Given the description of an element on the screen output the (x, y) to click on. 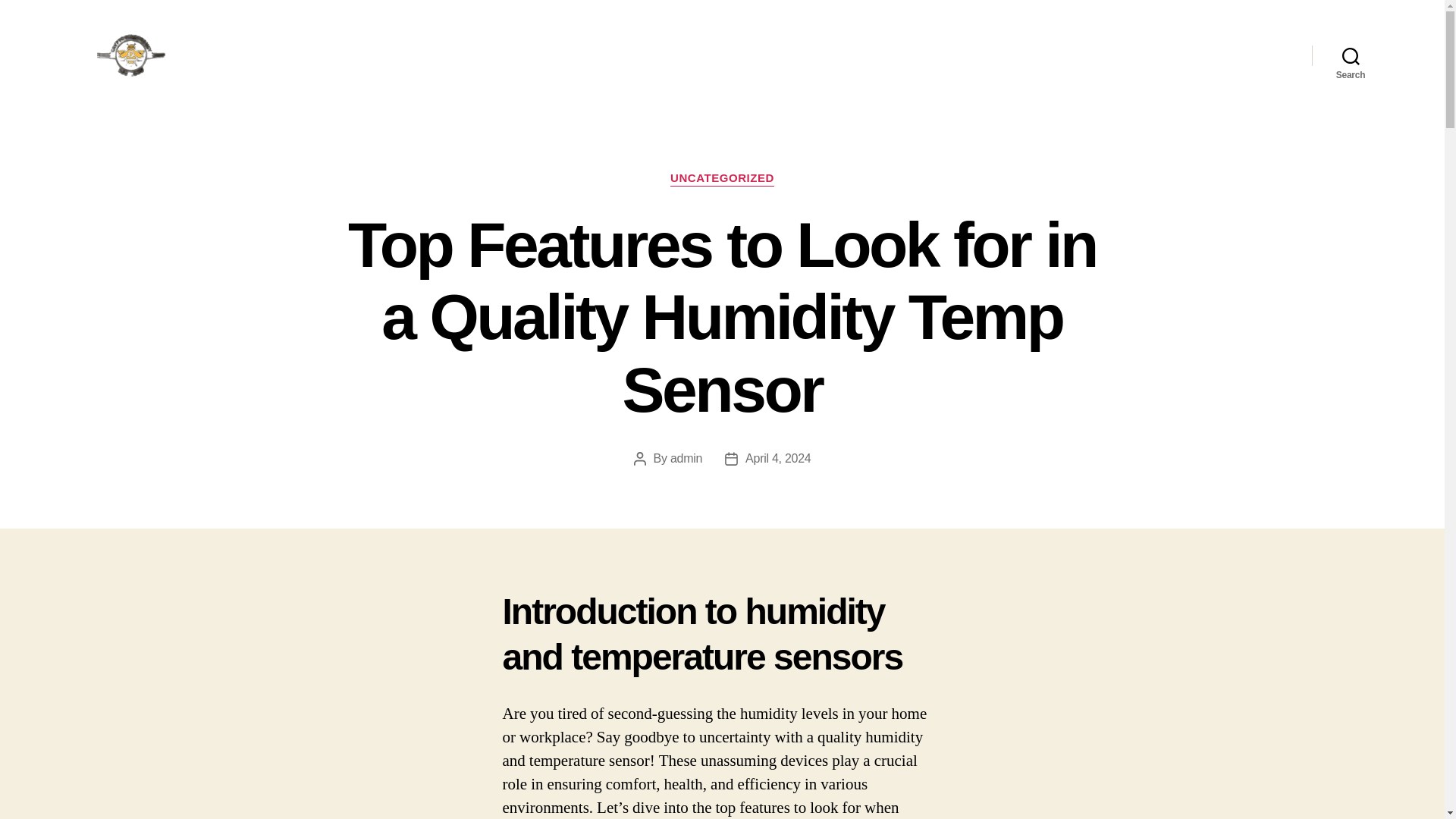
April 4, 2024 (777, 458)
Search (1350, 55)
admin (685, 458)
UNCATEGORIZED (721, 178)
